Given the description of an element on the screen output the (x, y) to click on. 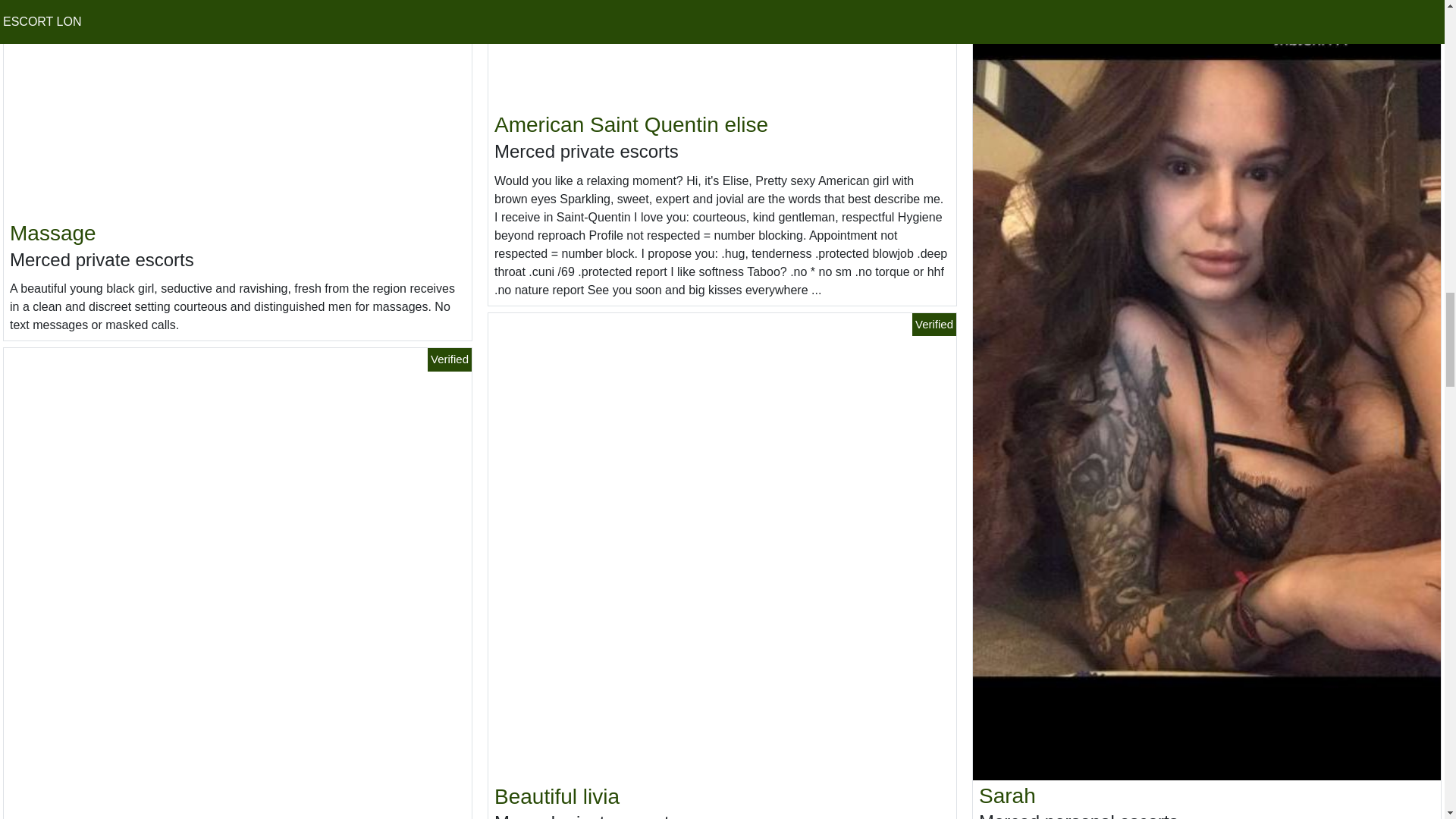
Massage (53, 232)
Beautiful livia (557, 796)
American Saint Quentin elise (631, 124)
